Given the description of an element on the screen output the (x, y) to click on. 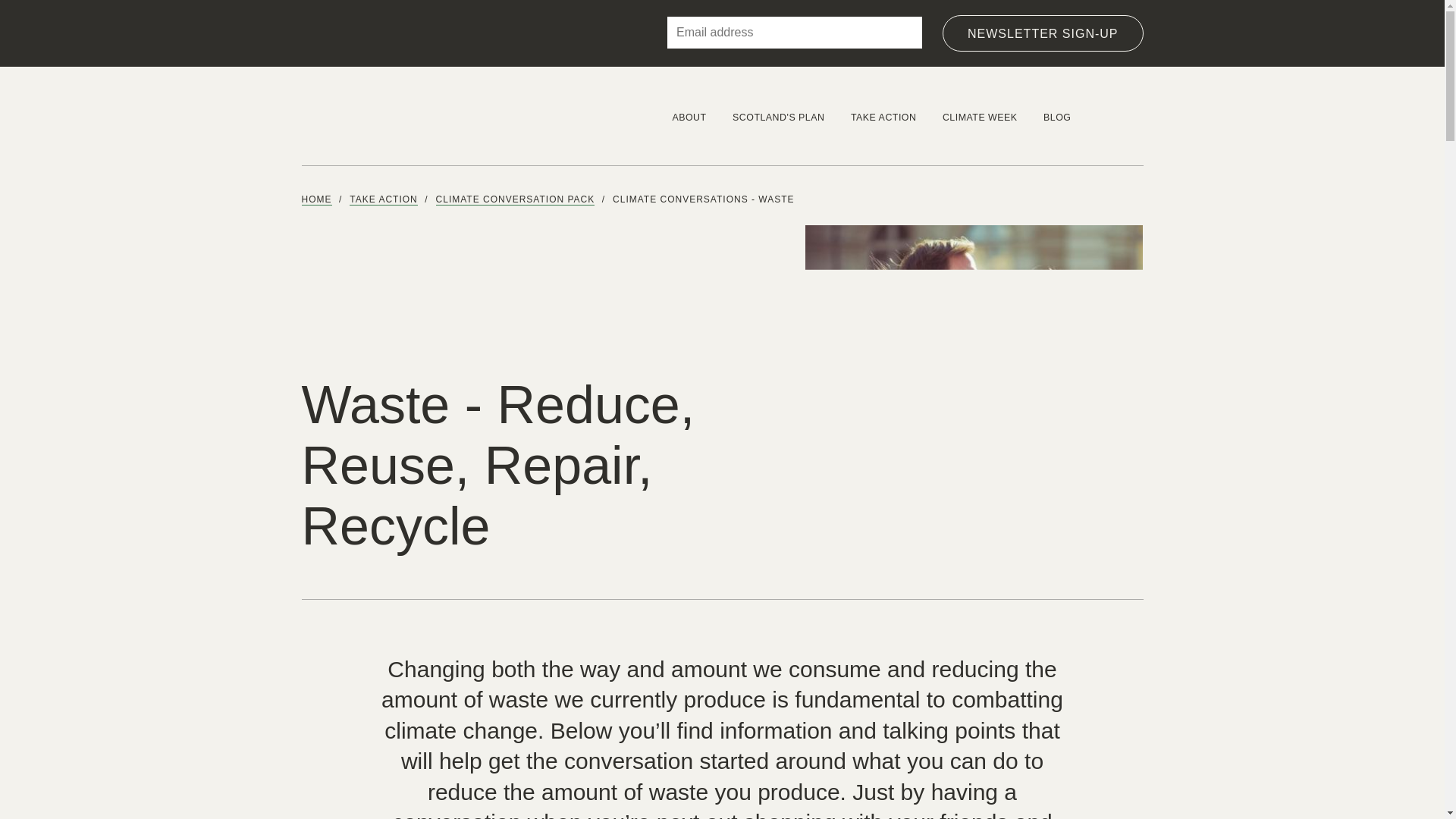
SCOTLAND'S PLAN (777, 115)
Net Zero Nation (398, 115)
HOME (316, 199)
TAKE ACTION (884, 115)
CLIMATE WEEK (980, 115)
NEWSLETTER SIGN-UP (1042, 33)
